Given the description of an element on the screen output the (x, y) to click on. 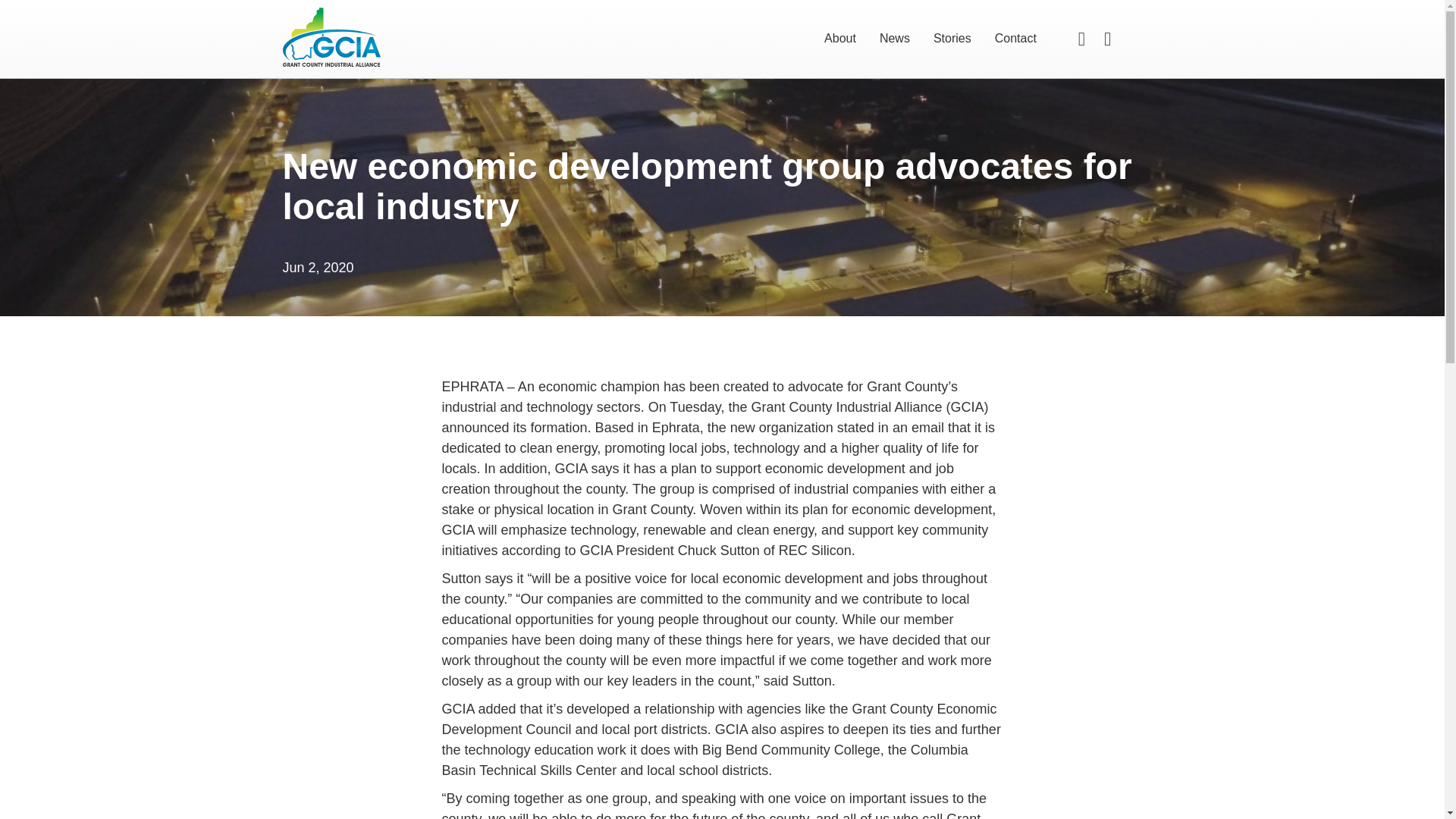
News (894, 38)
grant-county-industrial-alliance (331, 36)
About (839, 38)
Stories (951, 38)
Contact (1016, 38)
